Given the description of an element on the screen output the (x, y) to click on. 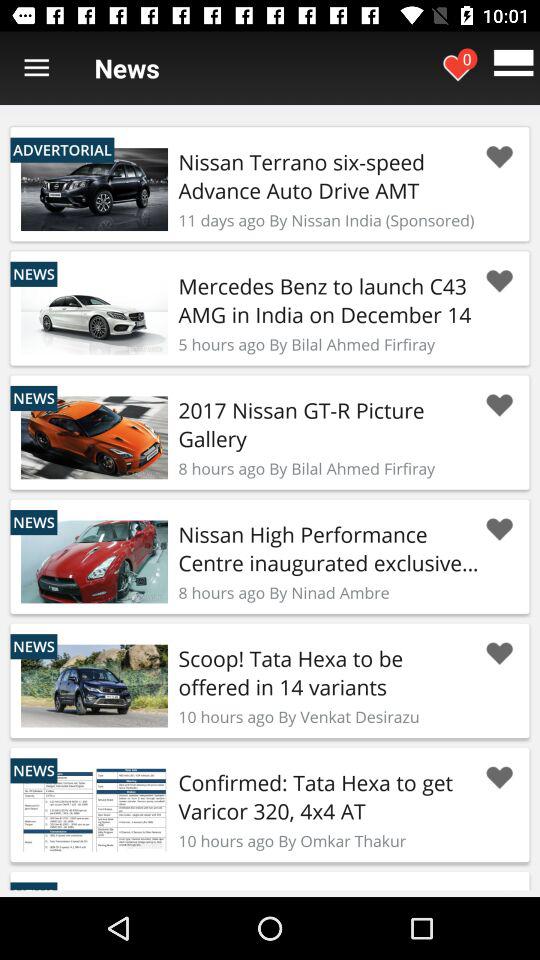
favorite (499, 157)
